Given the description of an element on the screen output the (x, y) to click on. 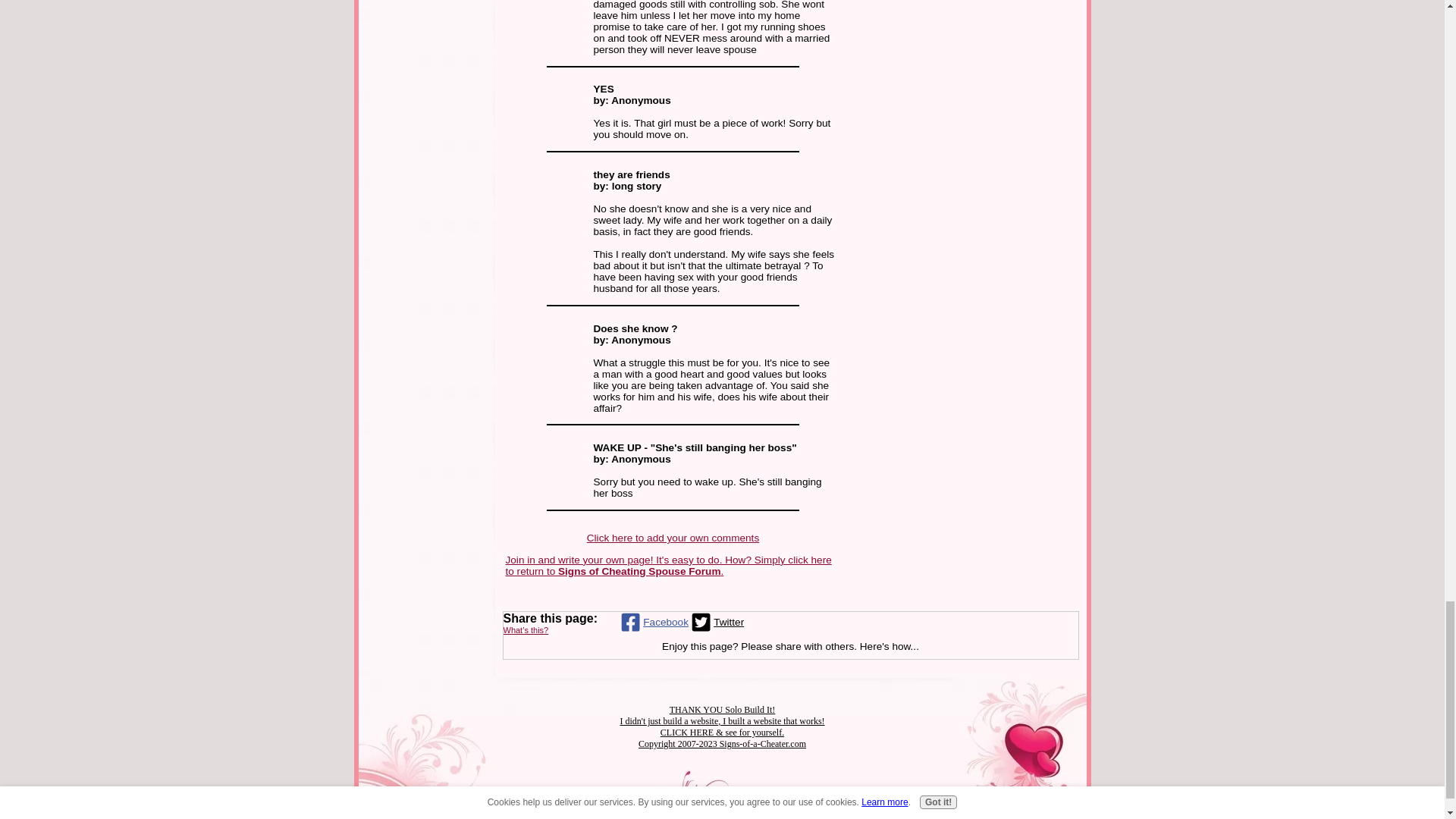
Twitter (716, 622)
Facebook (652, 622)
Proof it Works! (722, 726)
Click here to add your own comments (672, 537)
